Given the description of an element on the screen output the (x, y) to click on. 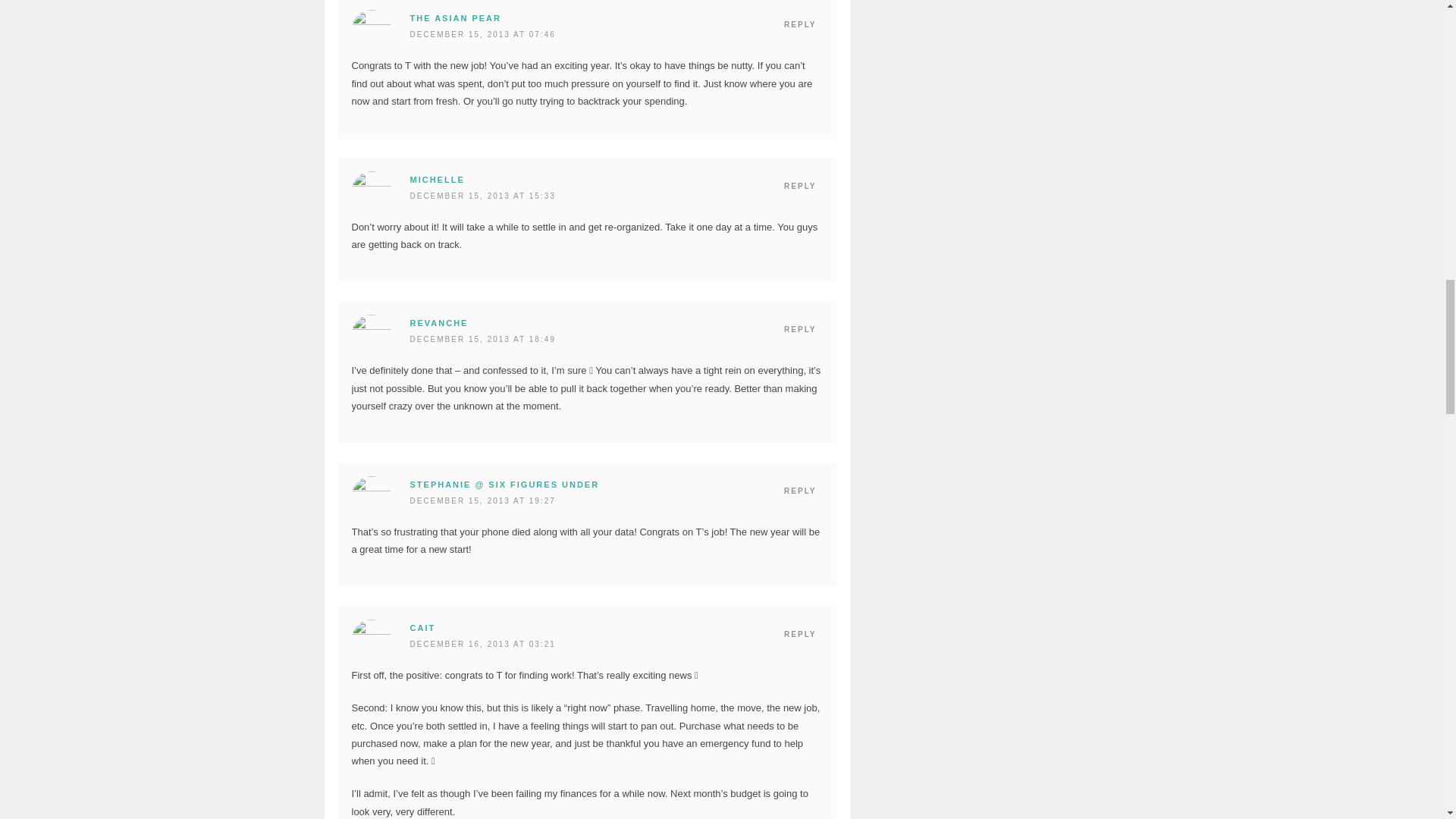
REPLY (799, 329)
REVANCHE (438, 322)
REPLY (799, 24)
MICHELLE (436, 179)
REPLY (799, 186)
THE ASIAN PEAR (454, 17)
